Given the description of an element on the screen output the (x, y) to click on. 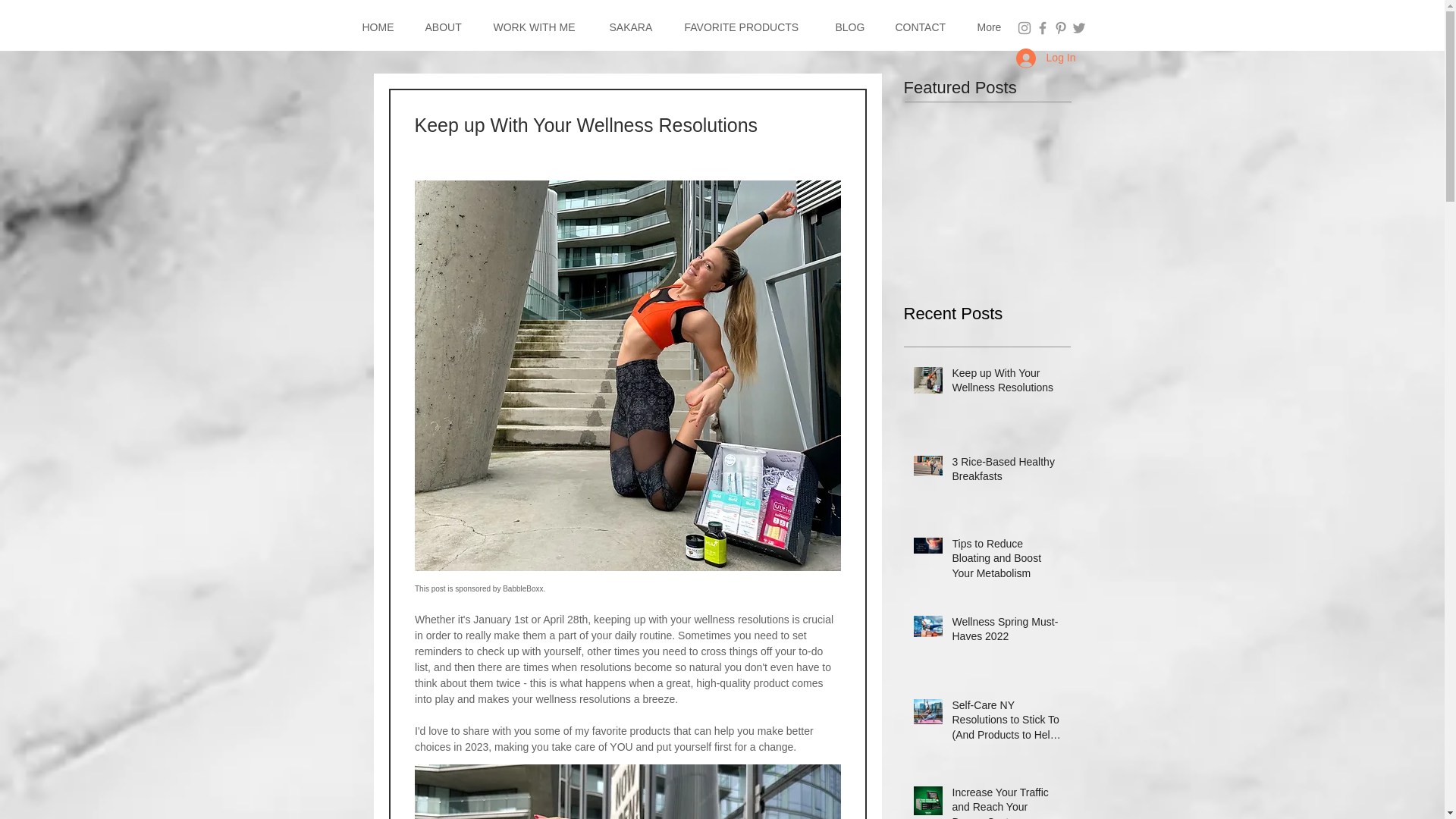
Log In (1046, 58)
HOME (381, 26)
WORK WITH ME (539, 26)
BLOG (853, 26)
3 Rice-Based Healthy Breakfasts (1006, 472)
SAKARA (634, 26)
FAVORITE PRODUCTS (748, 26)
Tips to Reduce Bloating and Boost Your Metabolism (1006, 562)
Wellness Spring Must-Haves 2022 (1006, 632)
ABOUT (447, 26)
Keep up With Your Wellness Resolutions (1006, 384)
Increase Your Traffic and Reach Your Dream Customers (1006, 802)
CONTACT (924, 26)
